Given the description of an element on the screen output the (x, y) to click on. 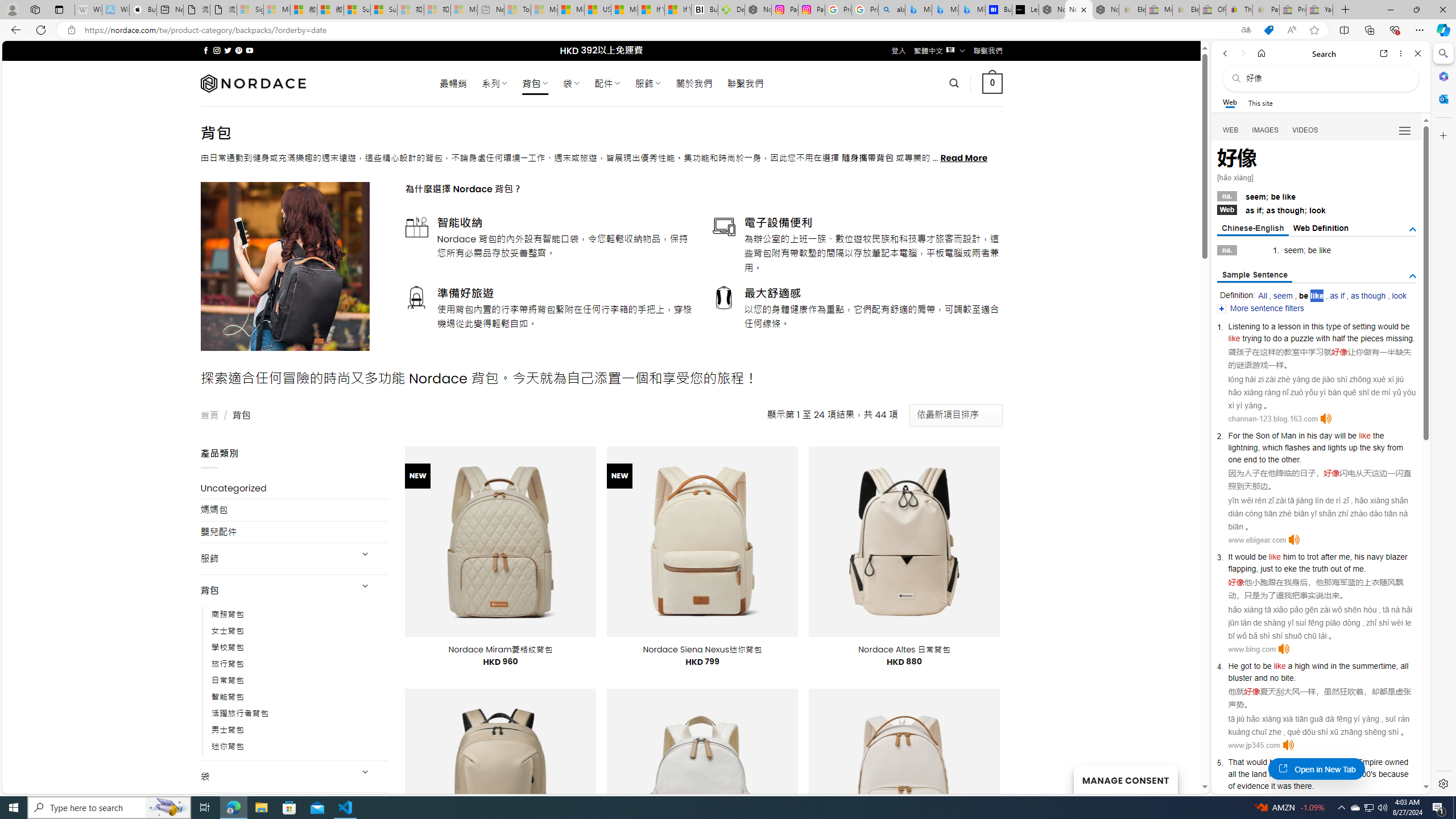
Man (1289, 435)
Son (1262, 435)
